Given the description of an element on the screen output the (x, y) to click on. 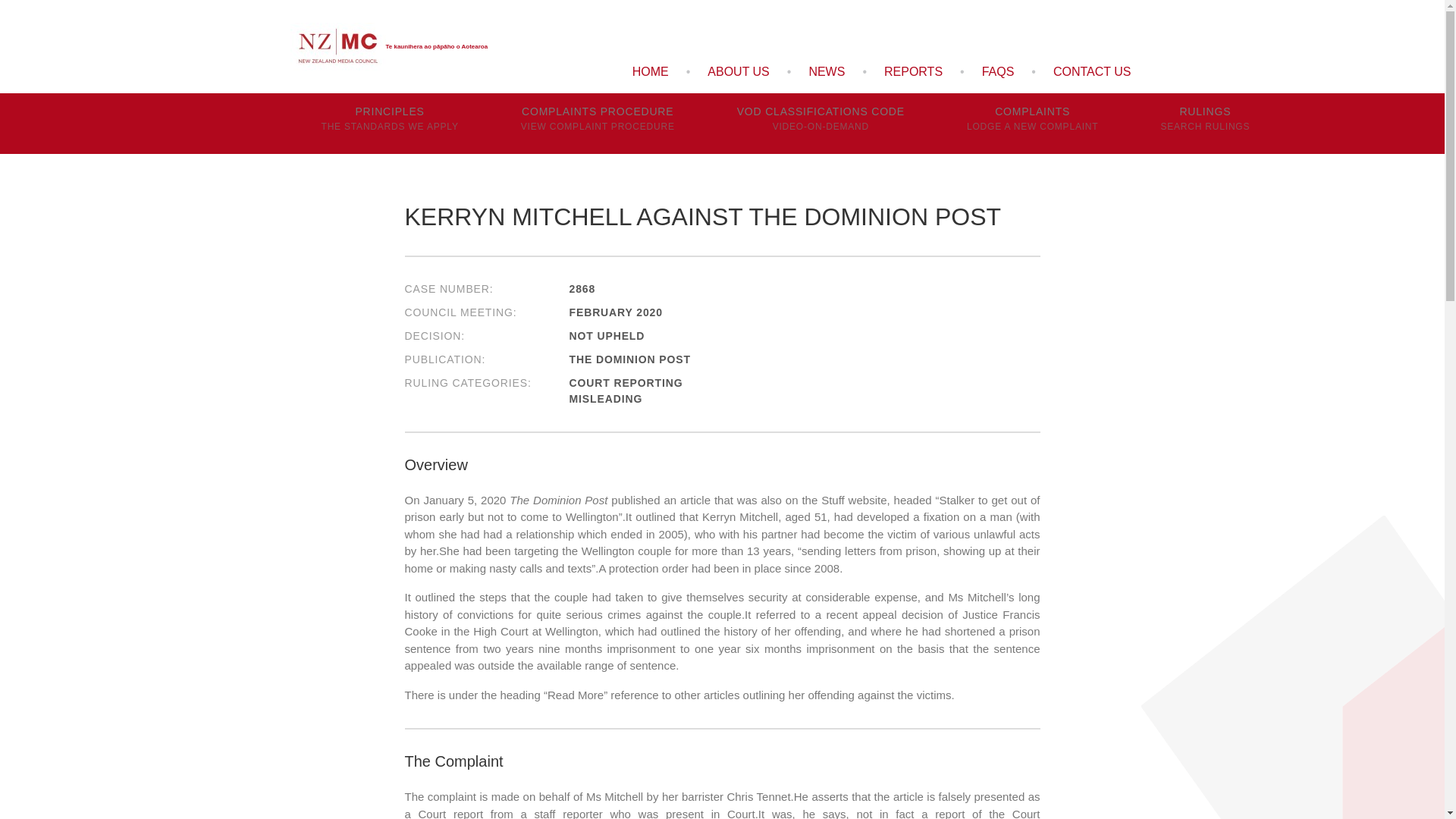
REPORTS (912, 71)
NEWS (826, 71)
About (737, 71)
back to homepage (388, 46)
Reports (1204, 123)
HOME (820, 123)
Get in touch (912, 71)
Frequently Asked Questions (650, 71)
ABOUT US (597, 123)
CONTACT US (1092, 71)
